Given the description of an element on the screen output the (x, y) to click on. 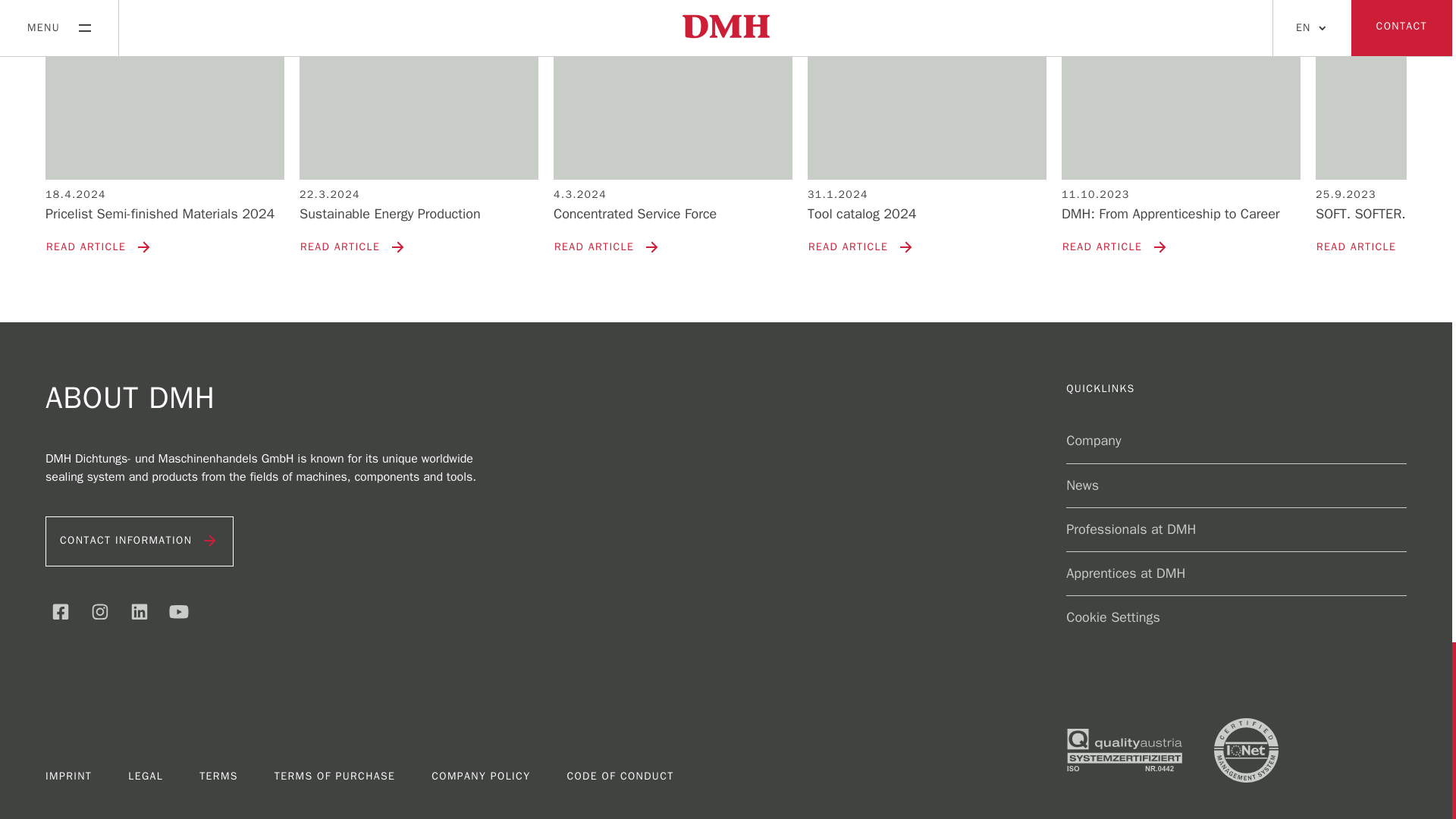
Facebook (60, 612)
Instagram (99, 612)
Linkedin (138, 612)
Youtube (178, 612)
